Given the description of an element on the screen output the (x, y) to click on. 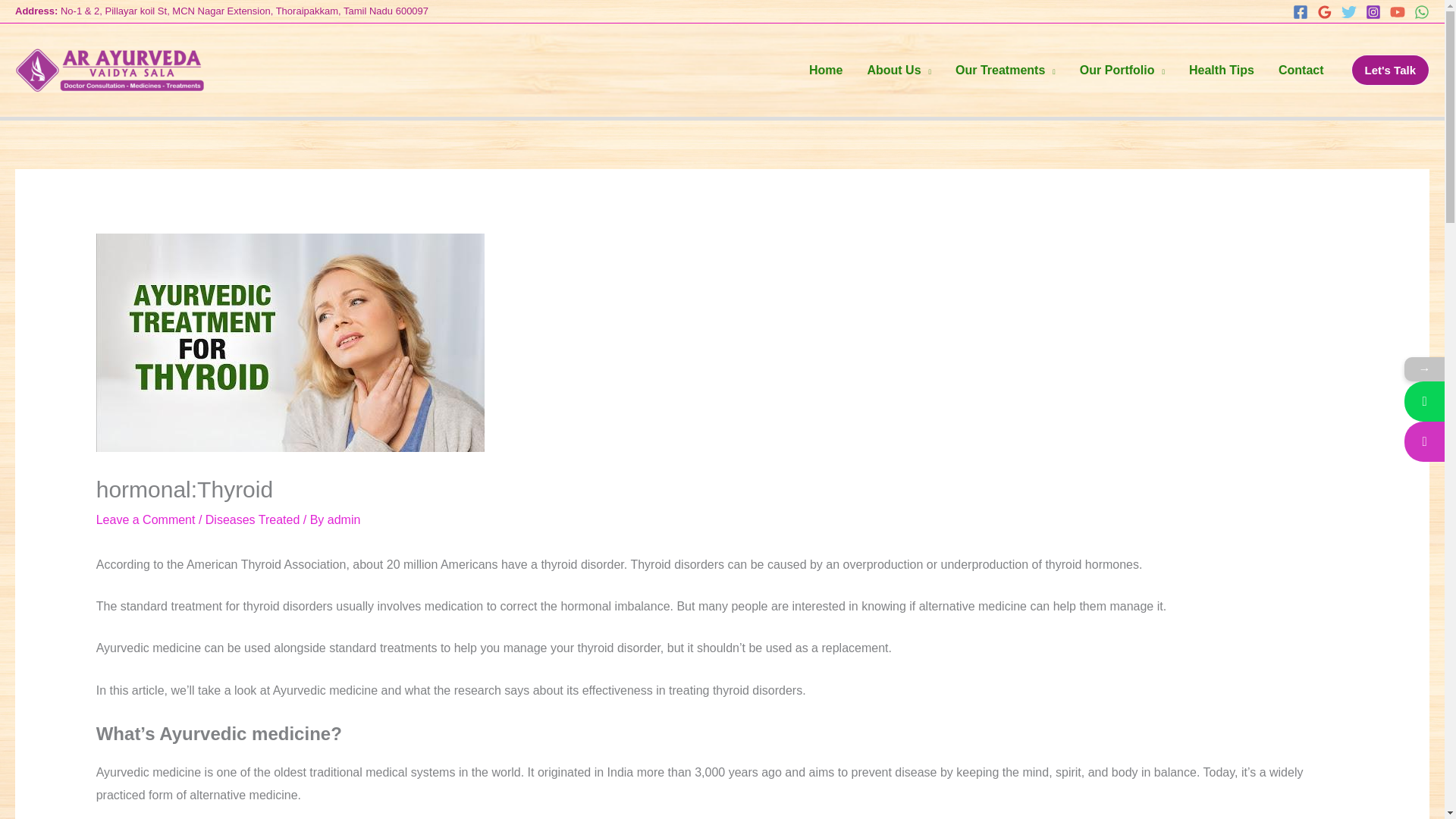
Contact (1301, 69)
Health Tips (1221, 69)
View all posts by admin (344, 519)
About Us (898, 69)
Let's Talk (1390, 69)
Home (825, 69)
Our Portfolio (1121, 69)
Our Treatments (1005, 69)
